Given the description of an element on the screen output the (x, y) to click on. 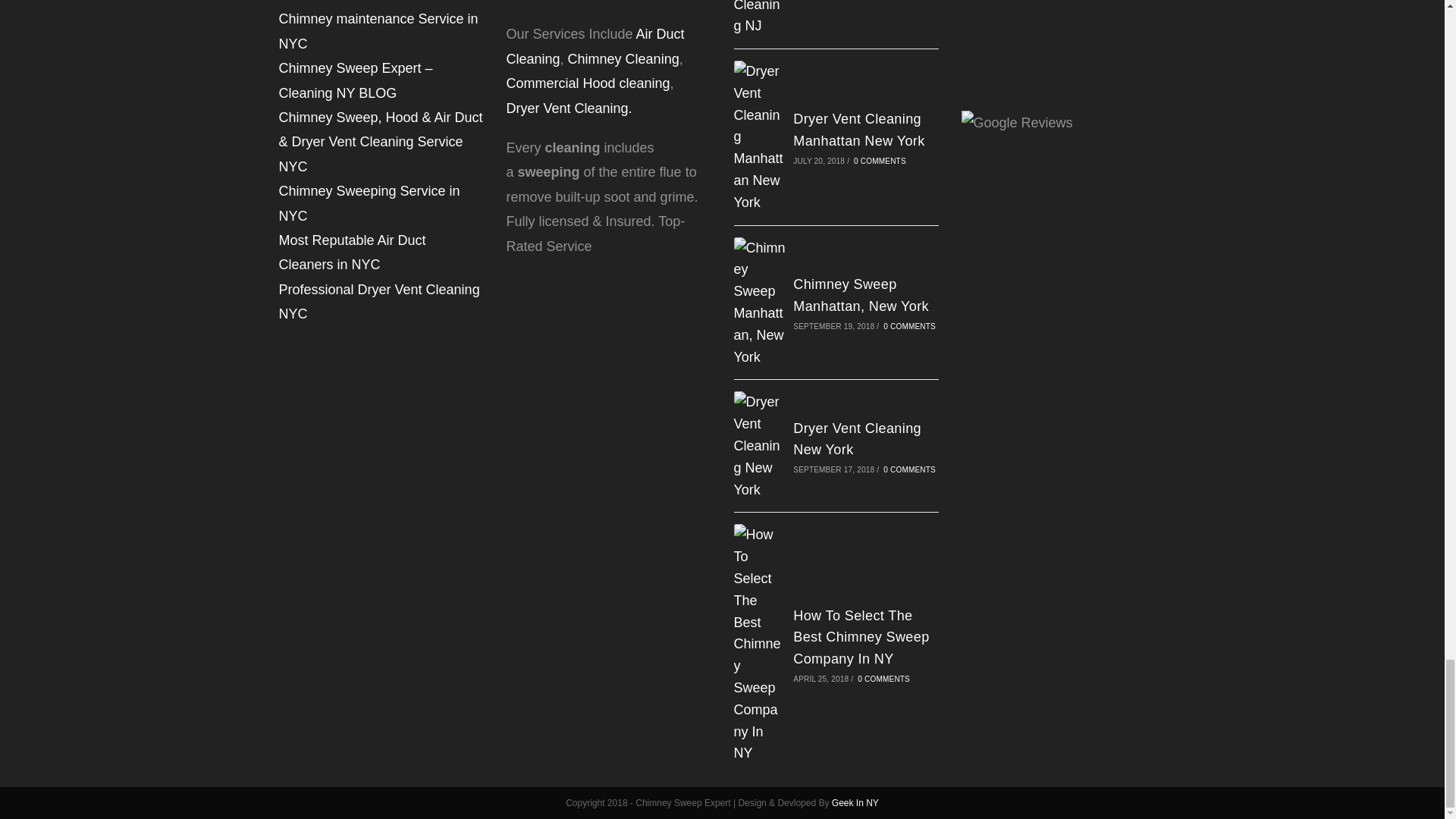
How To Select The Best Chimney Sweep Company In NY (759, 644)
Chimney Sweeping Service in NYC (369, 202)
Chimney Sweep Manhattan, New York (759, 302)
How To Select The Best Chimney Sweep Company In NY (860, 637)
Chimney Inspections With camera Service in NYC (357, 1)
Chimney Sweep Manhattan, New York (860, 294)
Dryer Vent Cleaning New York (759, 445)
Dryer Vent Cleaning New York (857, 438)
Chimney maintenance Service in NYC (379, 30)
